Given the description of an element on the screen output the (x, y) to click on. 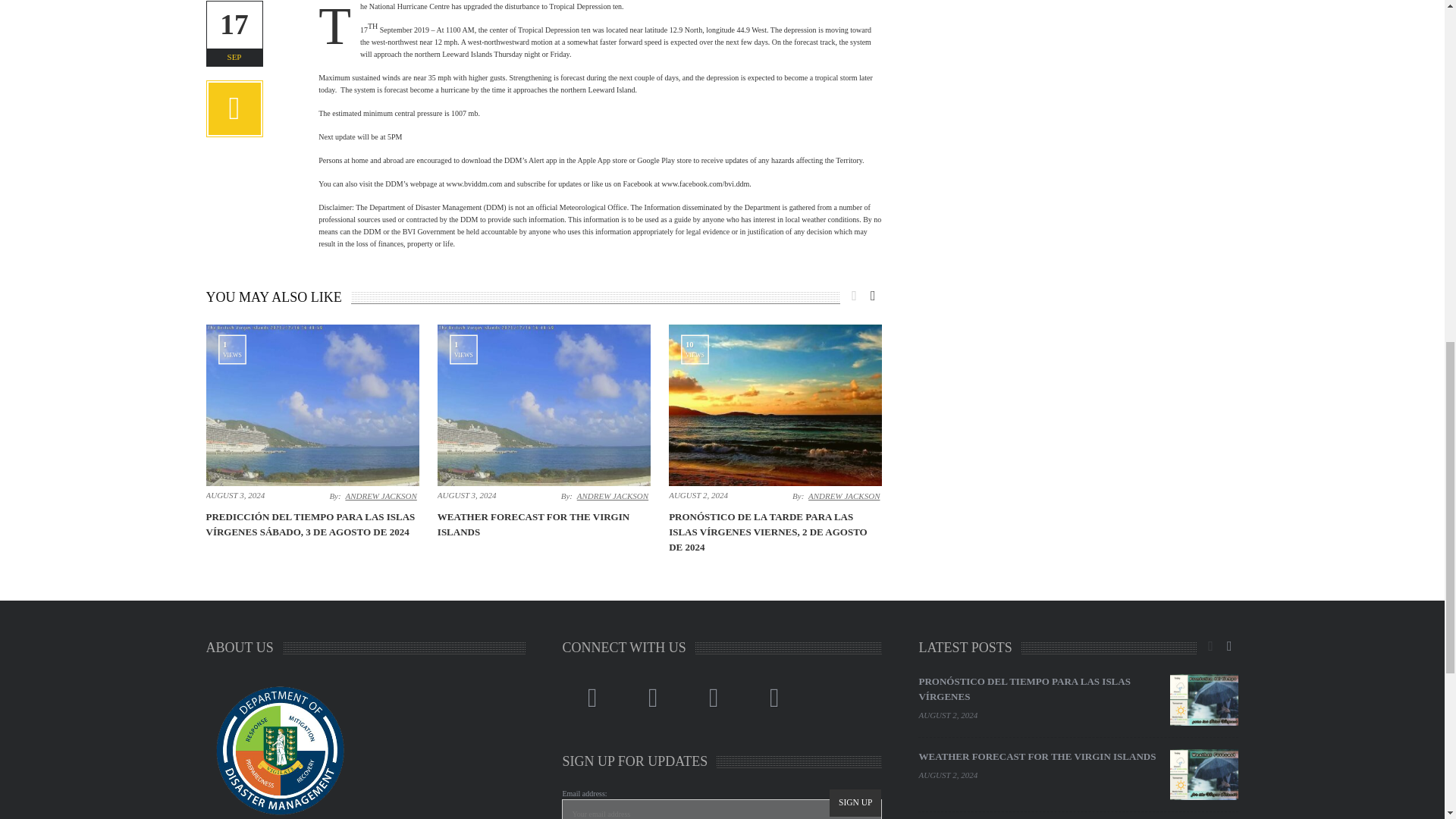
WEATHER FORECAST FOR THE VIRGIN ISLANDS (533, 524)
facebook (592, 698)
Sign up (854, 802)
